Given the description of an element on the screen output the (x, y) to click on. 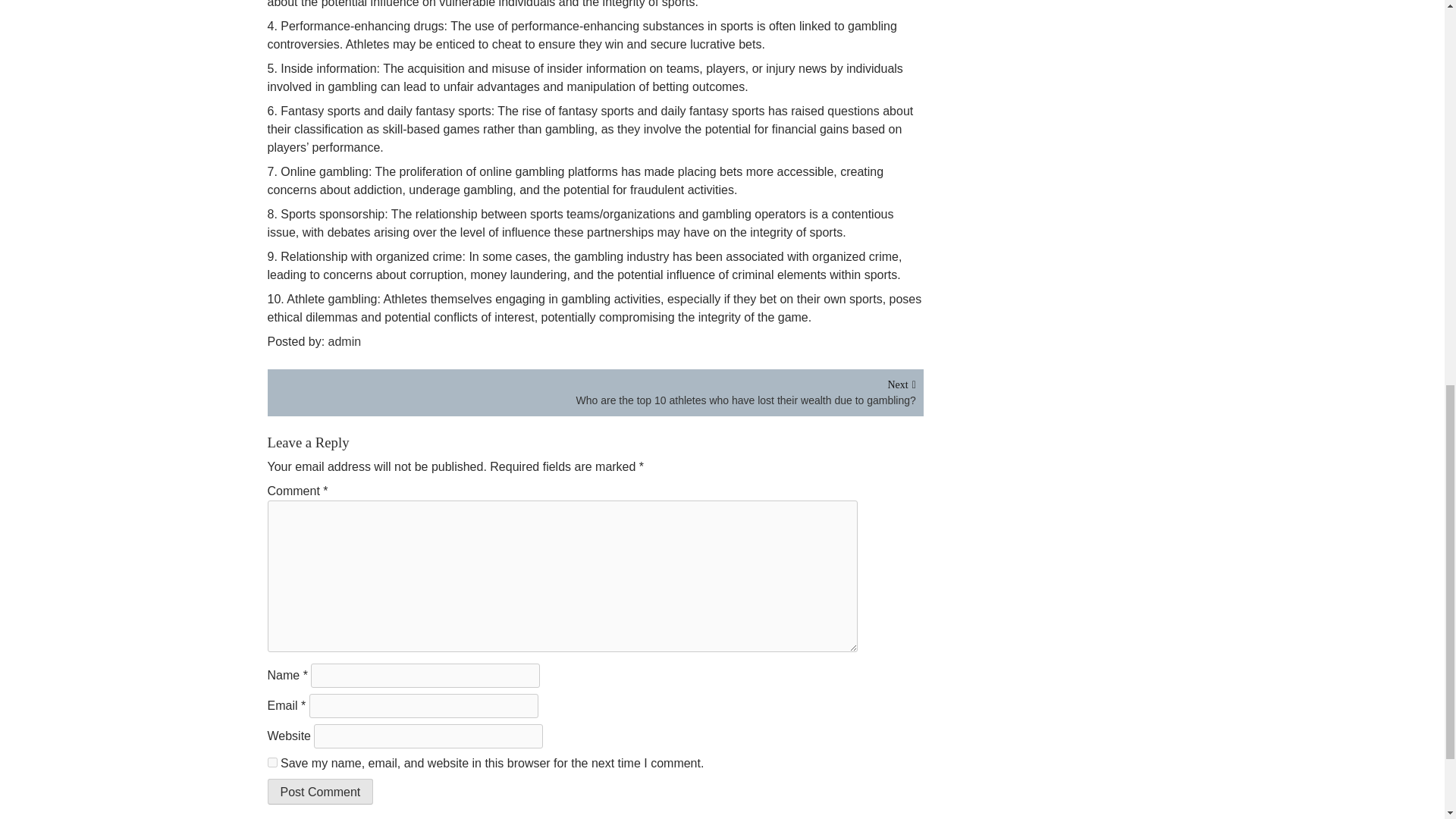
Post Comment (319, 791)
yes (271, 762)
admin (347, 341)
Post Comment (319, 791)
